Given the description of an element on the screen output the (x, y) to click on. 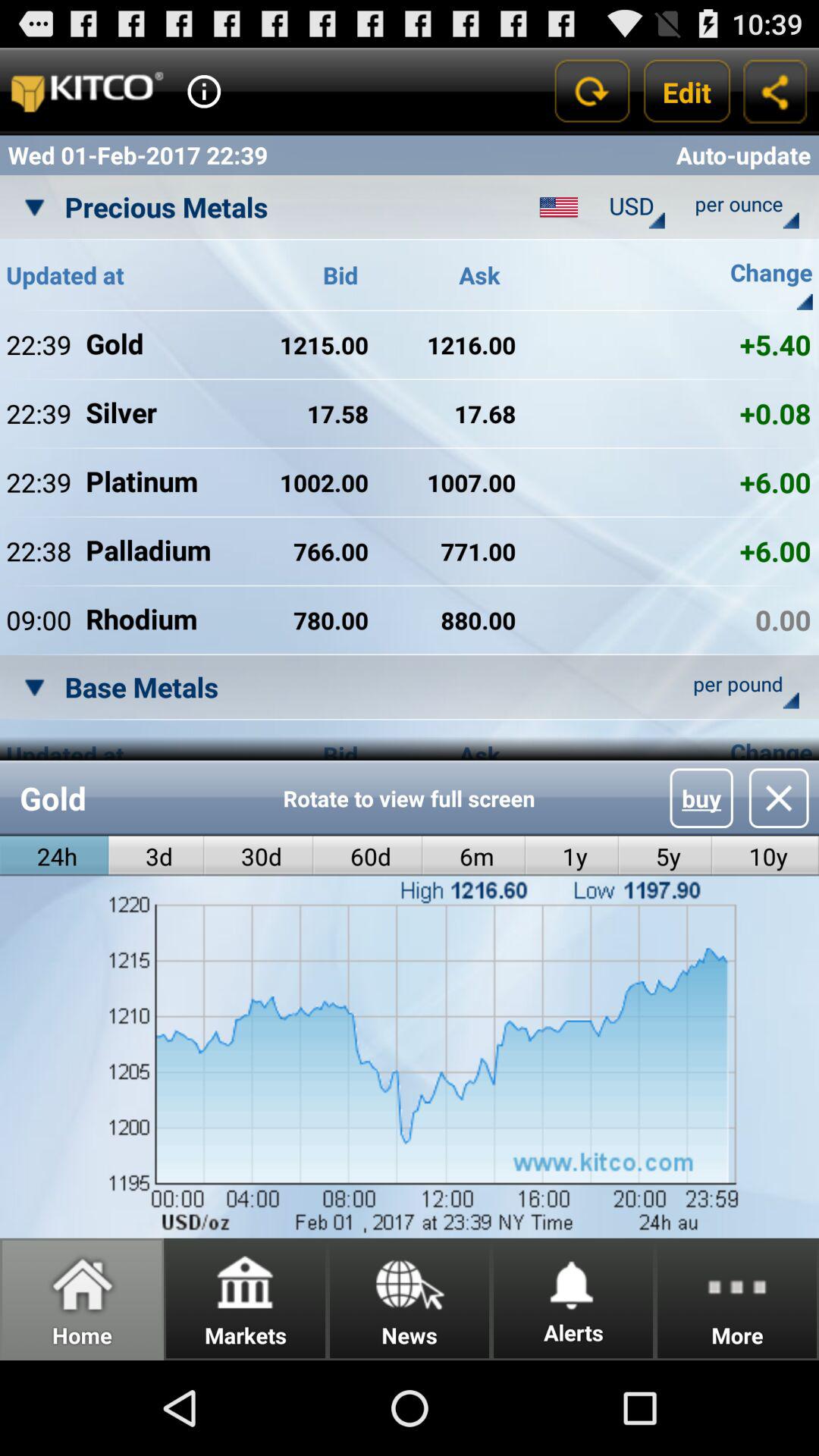
choose the radio button to the left of the 1y item (473, 856)
